Given the description of an element on the screen output the (x, y) to click on. 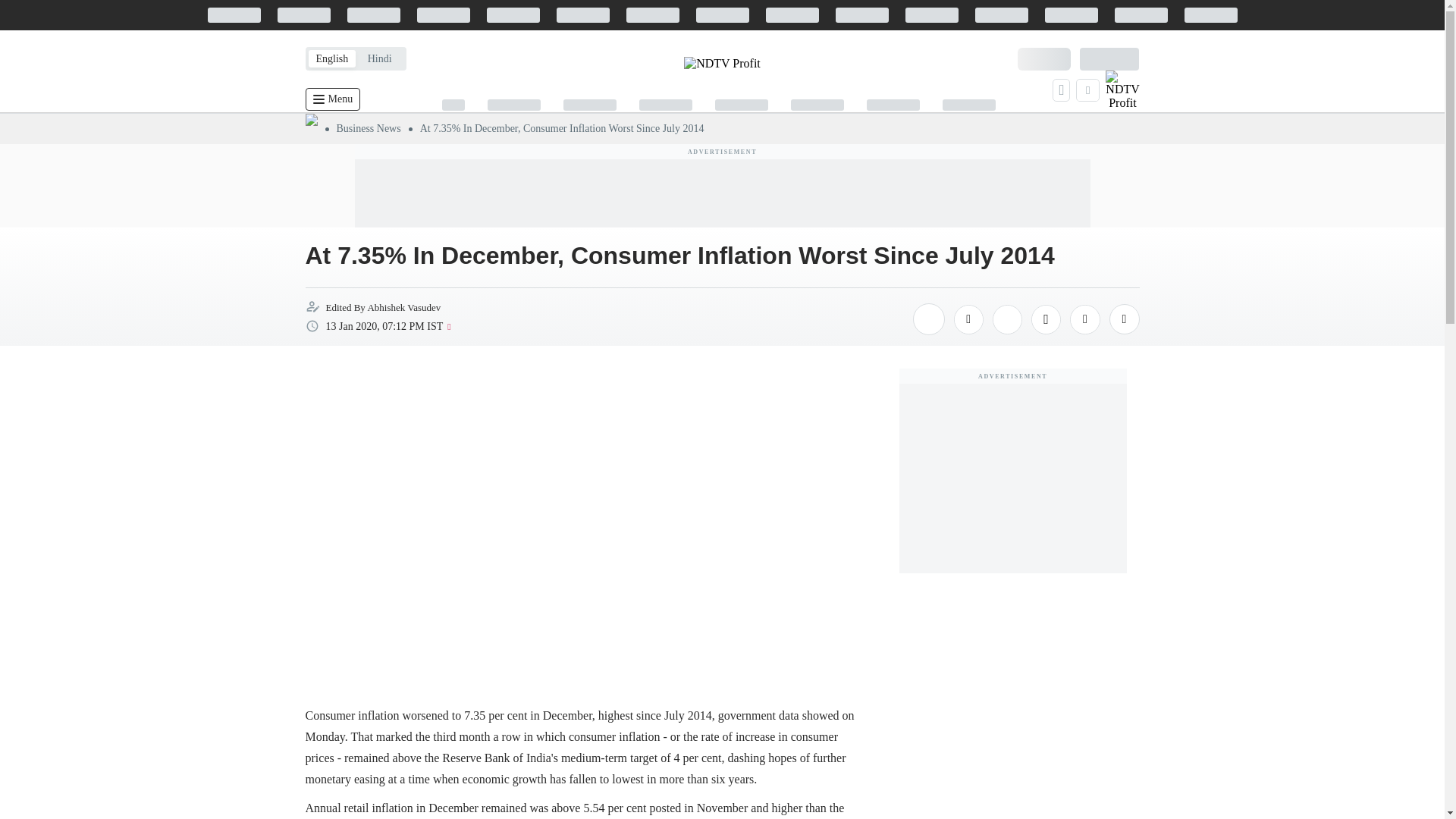
Hindi (379, 58)
Hindi (378, 58)
English (331, 58)
Menu (331, 98)
